Given the description of an element on the screen output the (x, y) to click on. 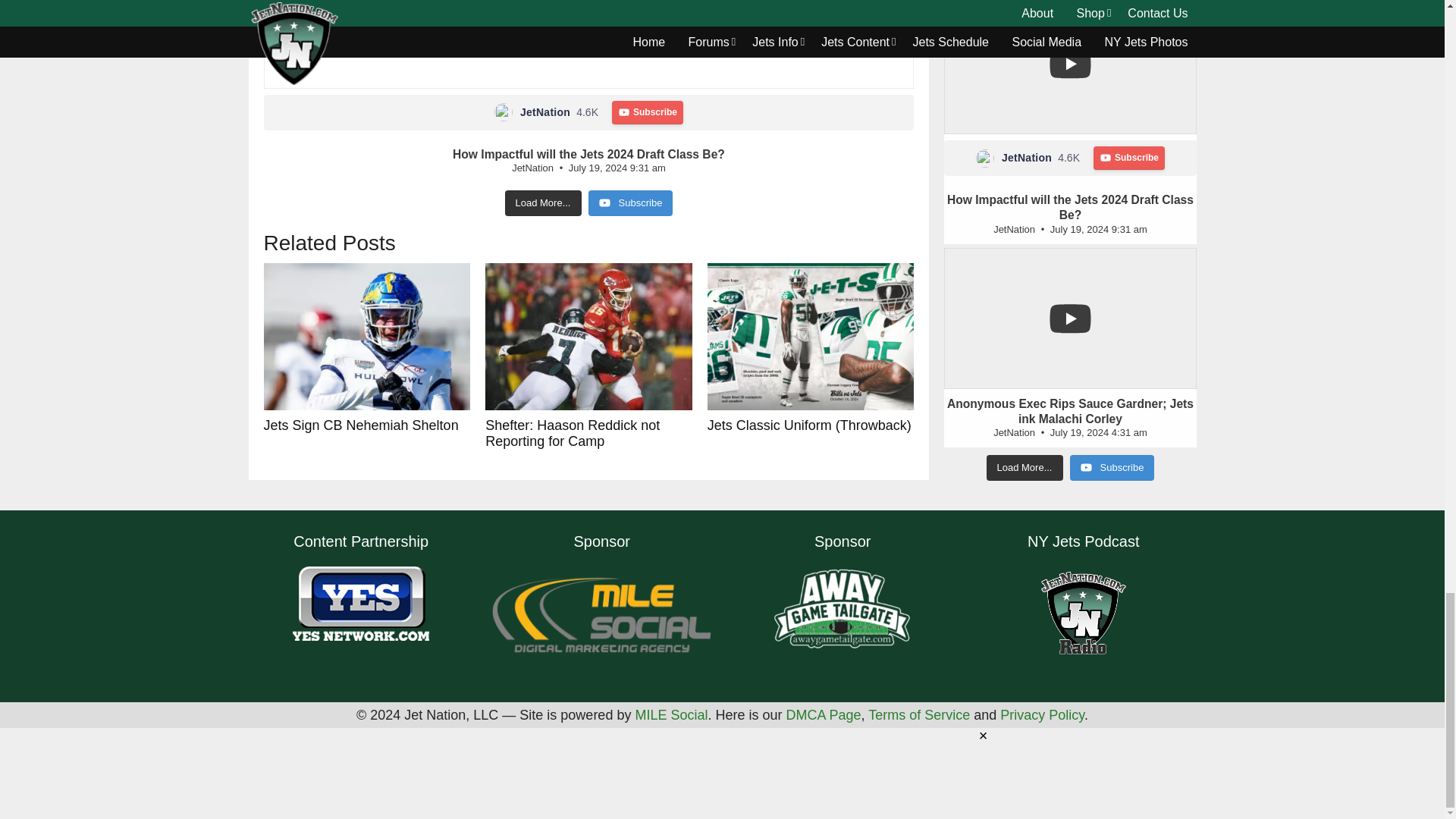
Shefter: Haason Reddick not Reporting for Camp (588, 336)
Jets Sign CB Nehemiah Shelton (366, 336)
